Given the description of an element on the screen output the (x, y) to click on. 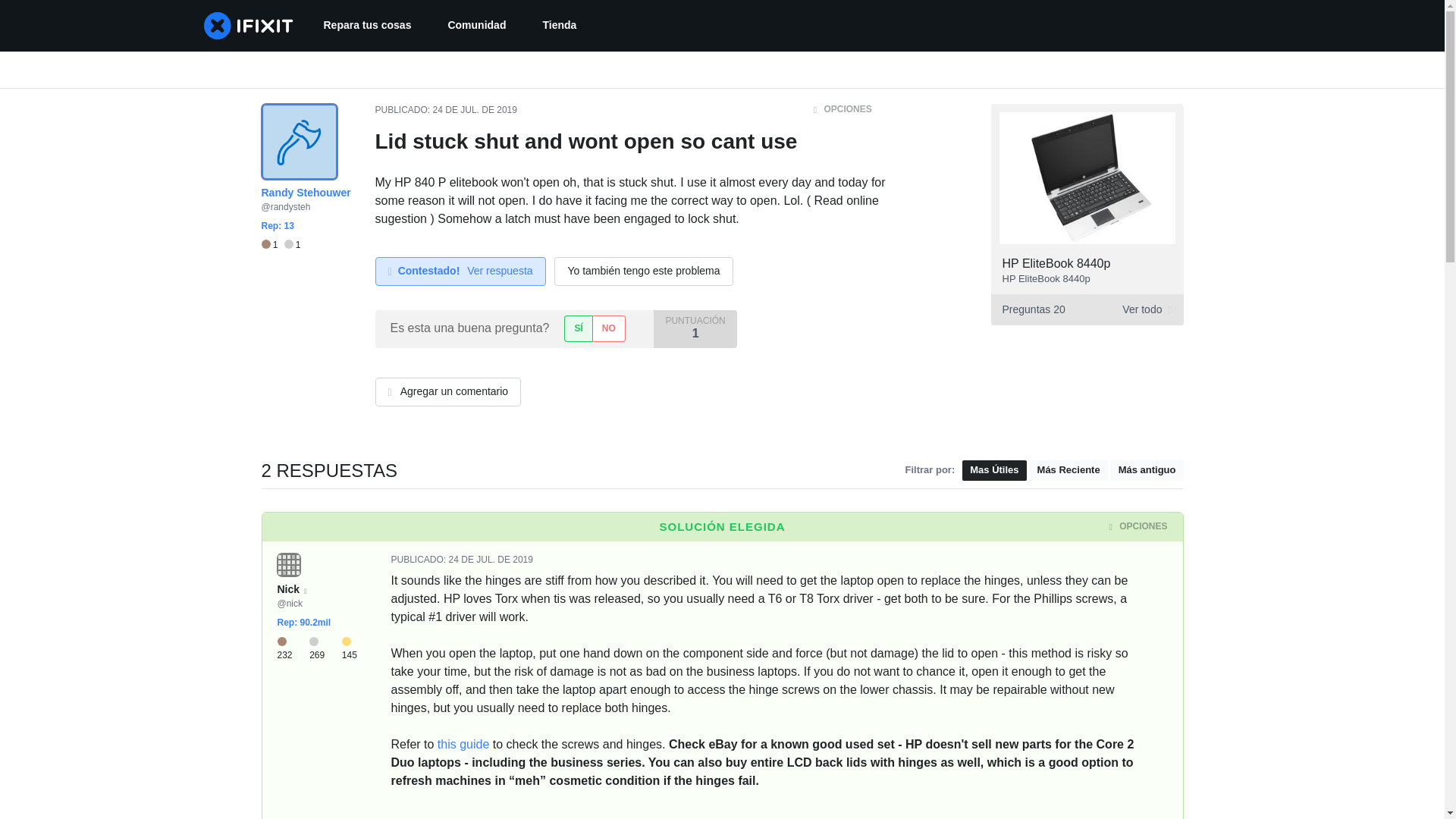
1 insignias de Bronce (271, 245)
232 insignias de Bronce (294, 647)
this guide (463, 744)
1 1 (279, 245)
269 insignias de Plata (325, 647)
NO (609, 328)
Tienda (559, 25)
1 insignias de Plata (292, 245)
232 269 145 (323, 647)
Agregar un comentario (447, 391)
